Given the description of an element on the screen output the (x, y) to click on. 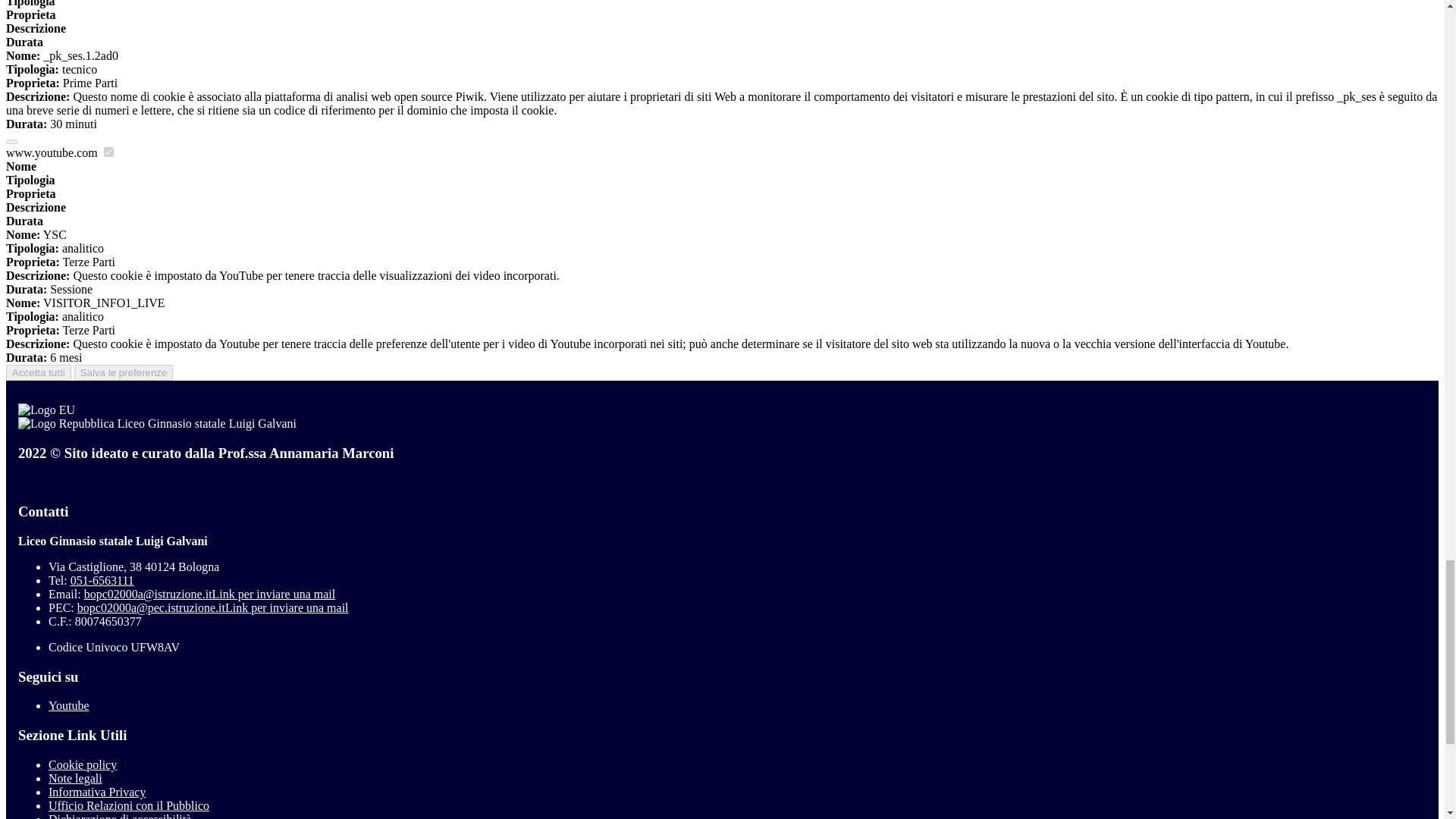
Privacy (96, 791)
Note Legali (74, 778)
Cookie Policy (82, 764)
on (108, 152)
URP (128, 805)
